Given the description of an element on the screen output the (x, y) to click on. 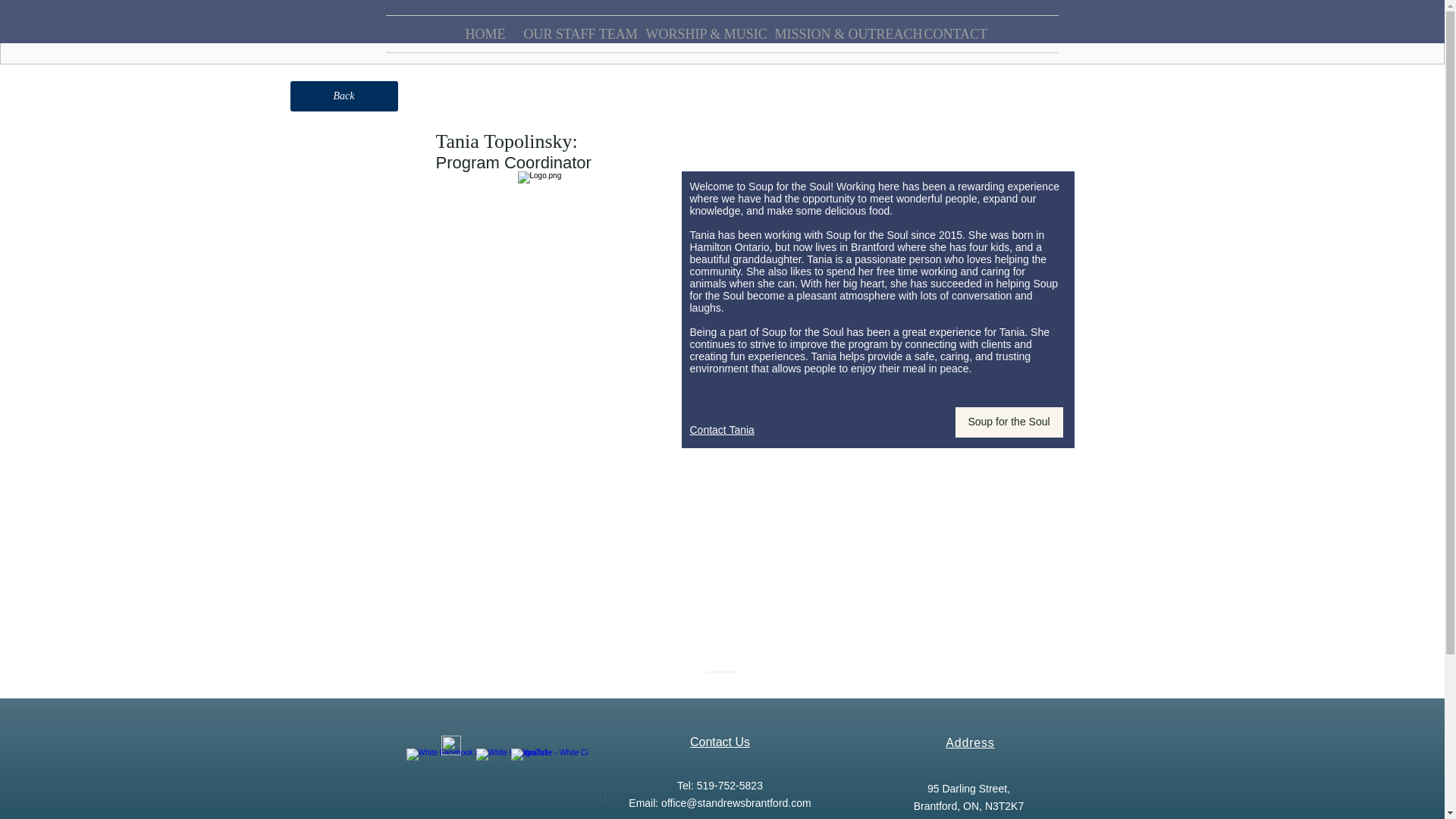
Contact Tania (722, 429)
CONTACT (951, 33)
Soup for the Soul (1008, 422)
HOME (482, 33)
Back (343, 96)
OUR STAFF TEAM (573, 33)
Contact Us (719, 741)
